Given the description of an element on the screen output the (x, y) to click on. 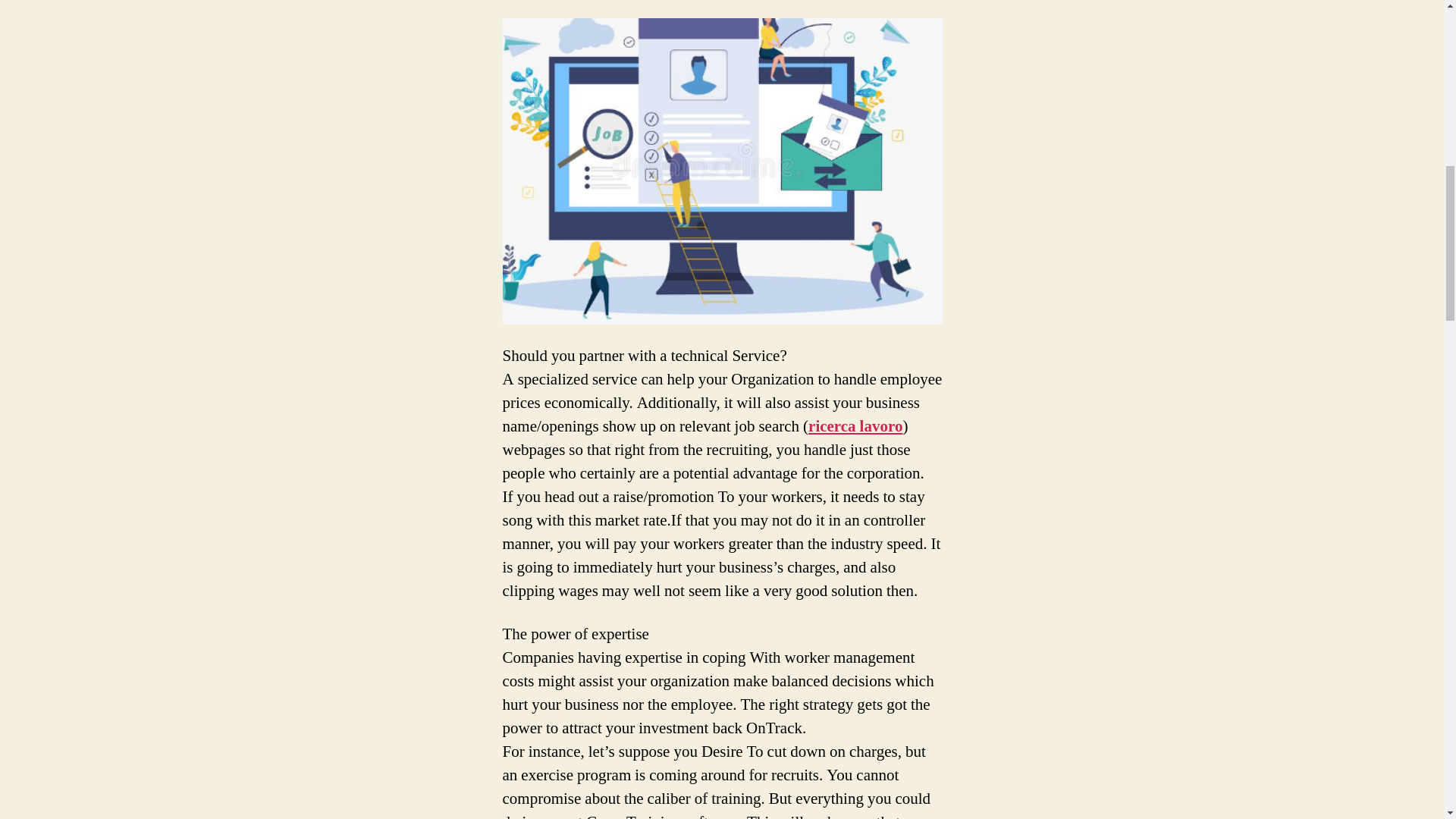
ricerca lavoro (855, 426)
